Given the description of an element on the screen output the (x, y) to click on. 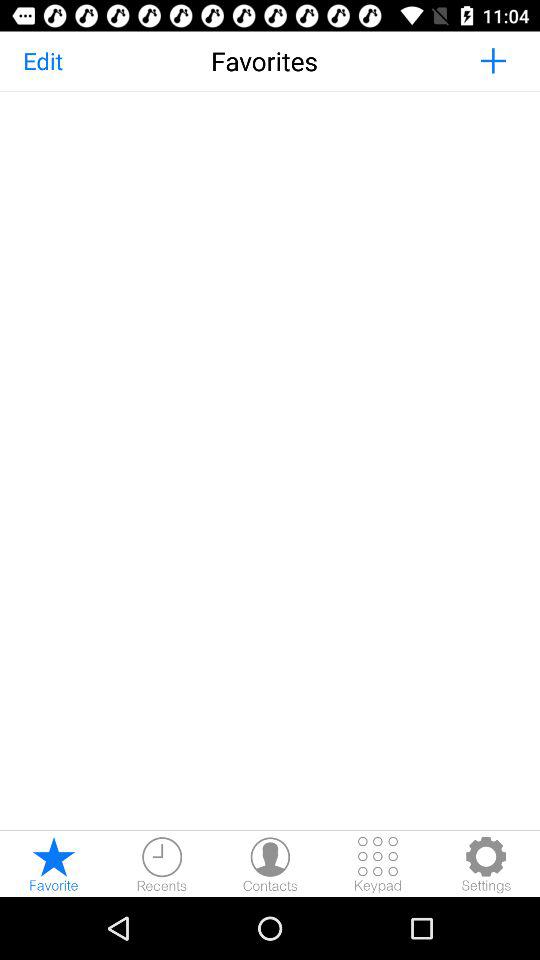
toggle keypad (377, 864)
